Given the description of an element on the screen output the (x, y) to click on. 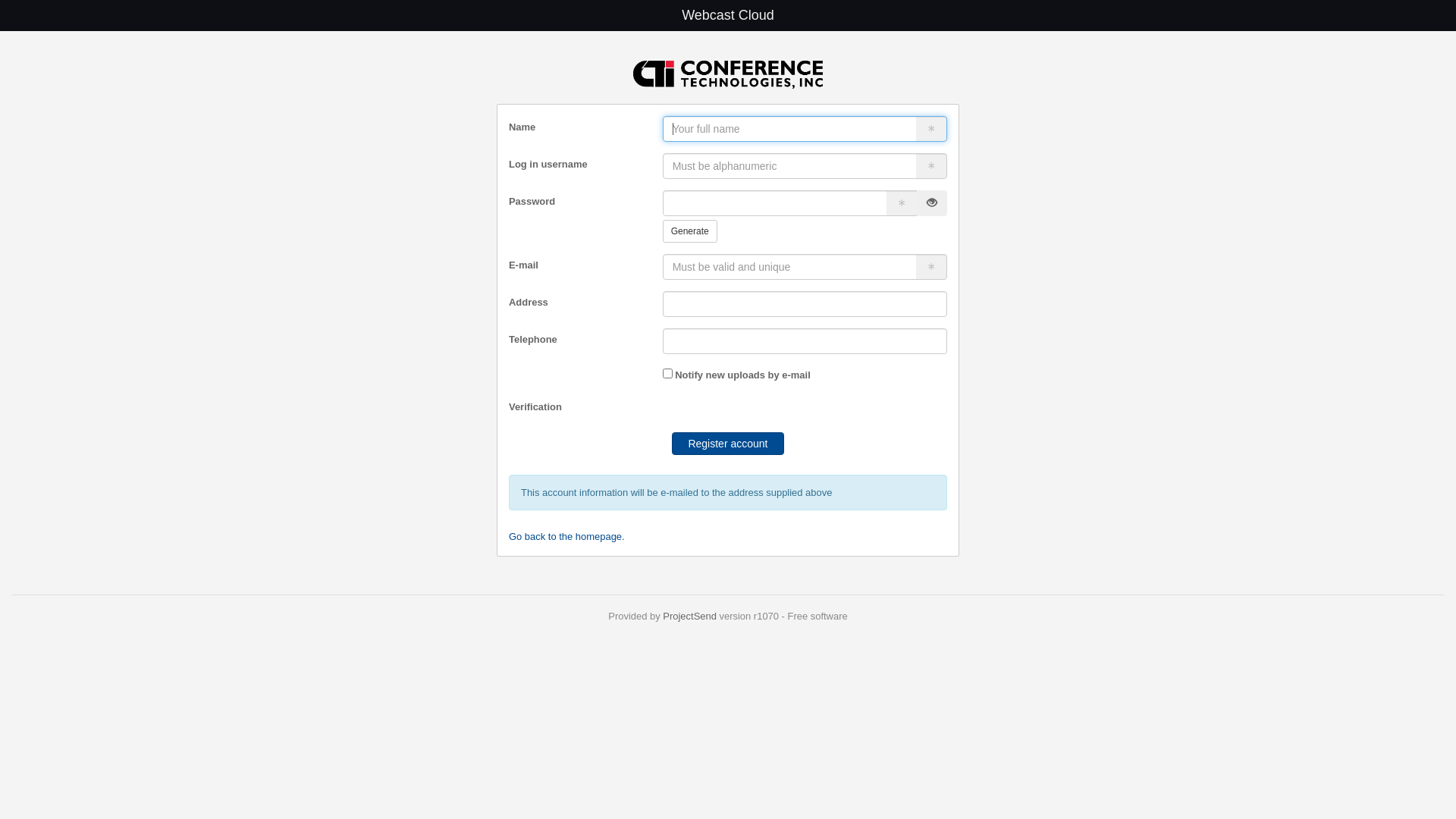
ProjectSend Element type: text (689, 615)
Go back to the homepage. Element type: text (566, 536)
Register account Element type: text (727, 443)
Generate Element type: text (689, 230)
